Given the description of an element on the screen output the (x, y) to click on. 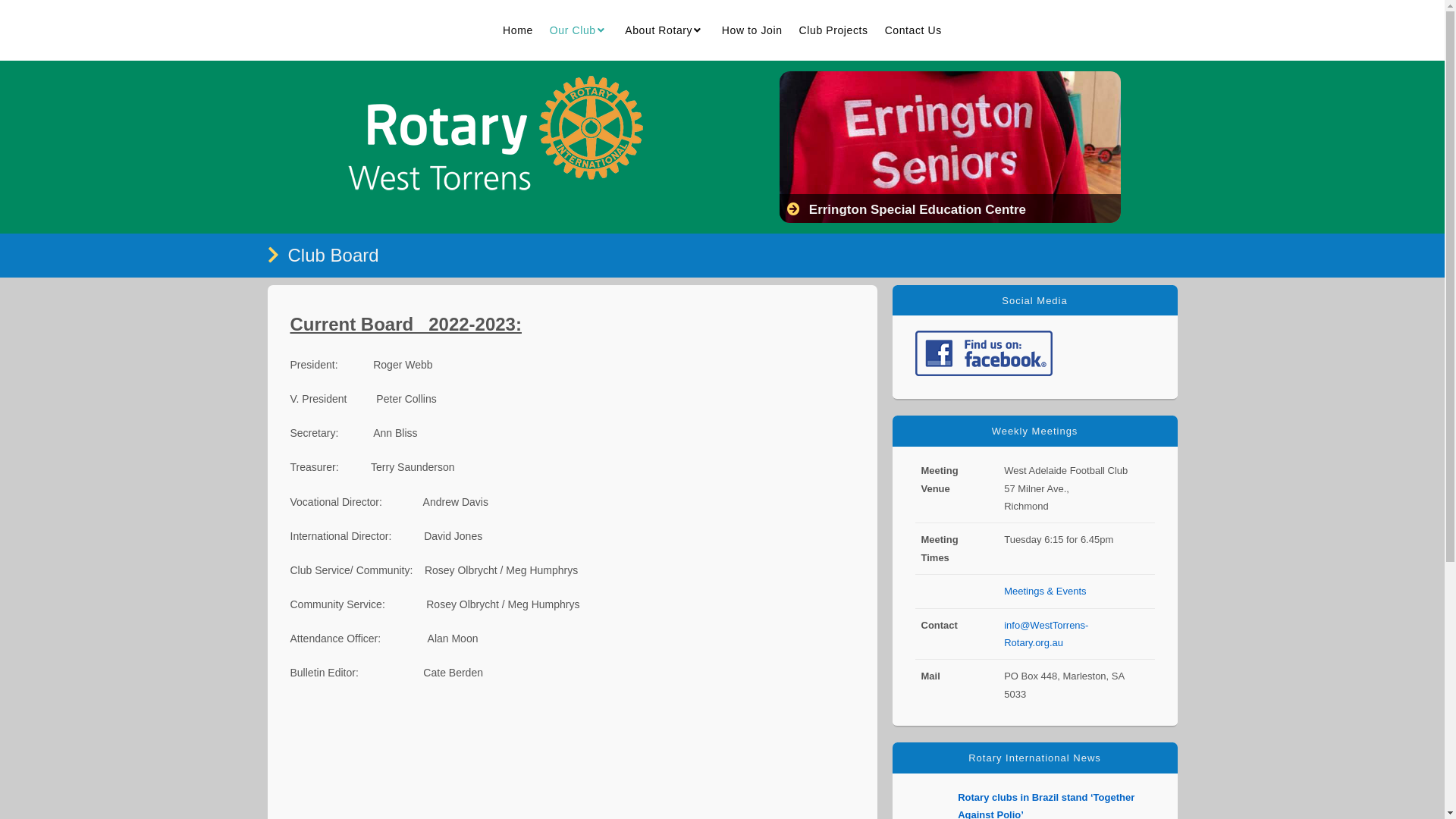
Home Element type: text (517, 30)
Contact Us Element type: text (913, 30)
Club Projects Element type: text (833, 30)
info@WestTorrens-Rotary.org.au Element type: text (1046, 633)
Meetings & Events Element type: text (1044, 590)
How to Join Element type: text (751, 30)
Our Club Element type: text (578, 30)
About Rotary Element type: text (664, 30)
